Given the description of an element on the screen output the (x, y) to click on. 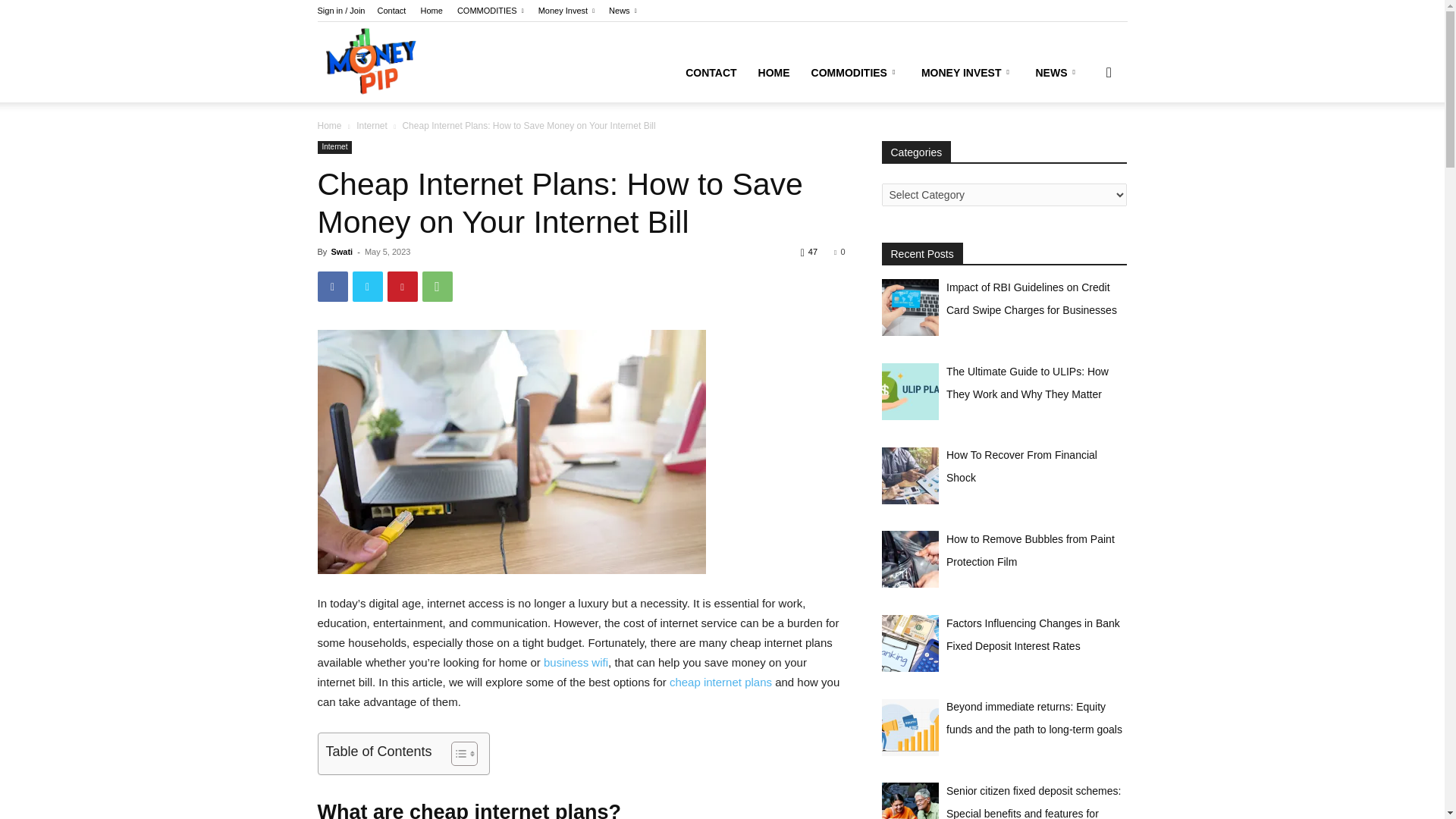
Twitter (366, 286)
Pinterest (401, 286)
Facebook (332, 286)
View all posts in Internet (371, 125)
WhatsApp (436, 286)
money (510, 452)
